Given the description of an element on the screen output the (x, y) to click on. 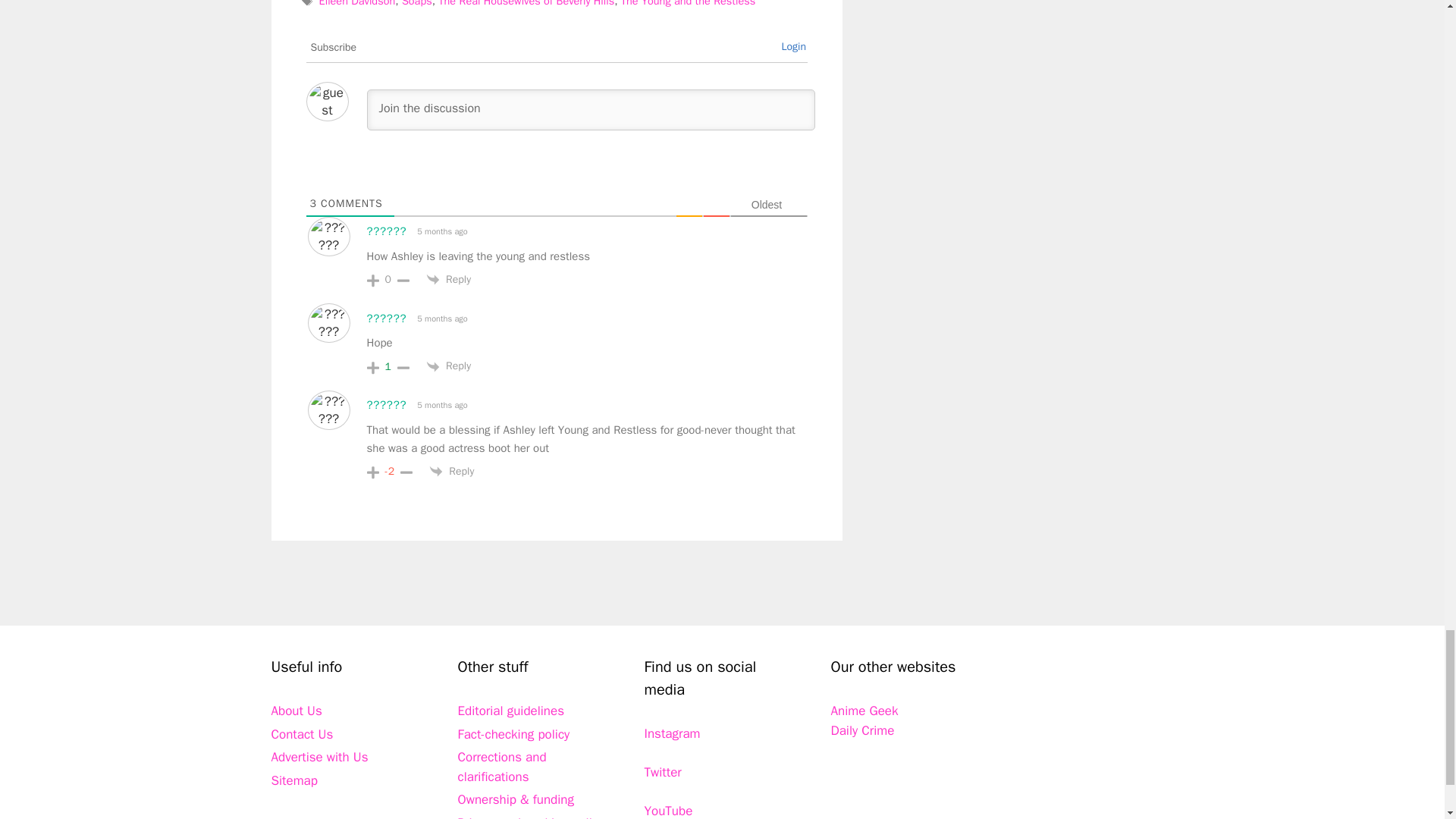
The Real Housewives of Beverly Hills (526, 3)
26th March 2024 8:02 pm EDT (440, 318)
26th March 2024 8:02 pm EDT (440, 231)
Login (793, 46)
Soaps (416, 3)
The Young and the Restless (688, 3)
-2 (389, 471)
0 (387, 279)
27th March 2024 8:39 pm EDT (440, 405)
Eileen Davidson (357, 3)
